Given the description of an element on the screen output the (x, y) to click on. 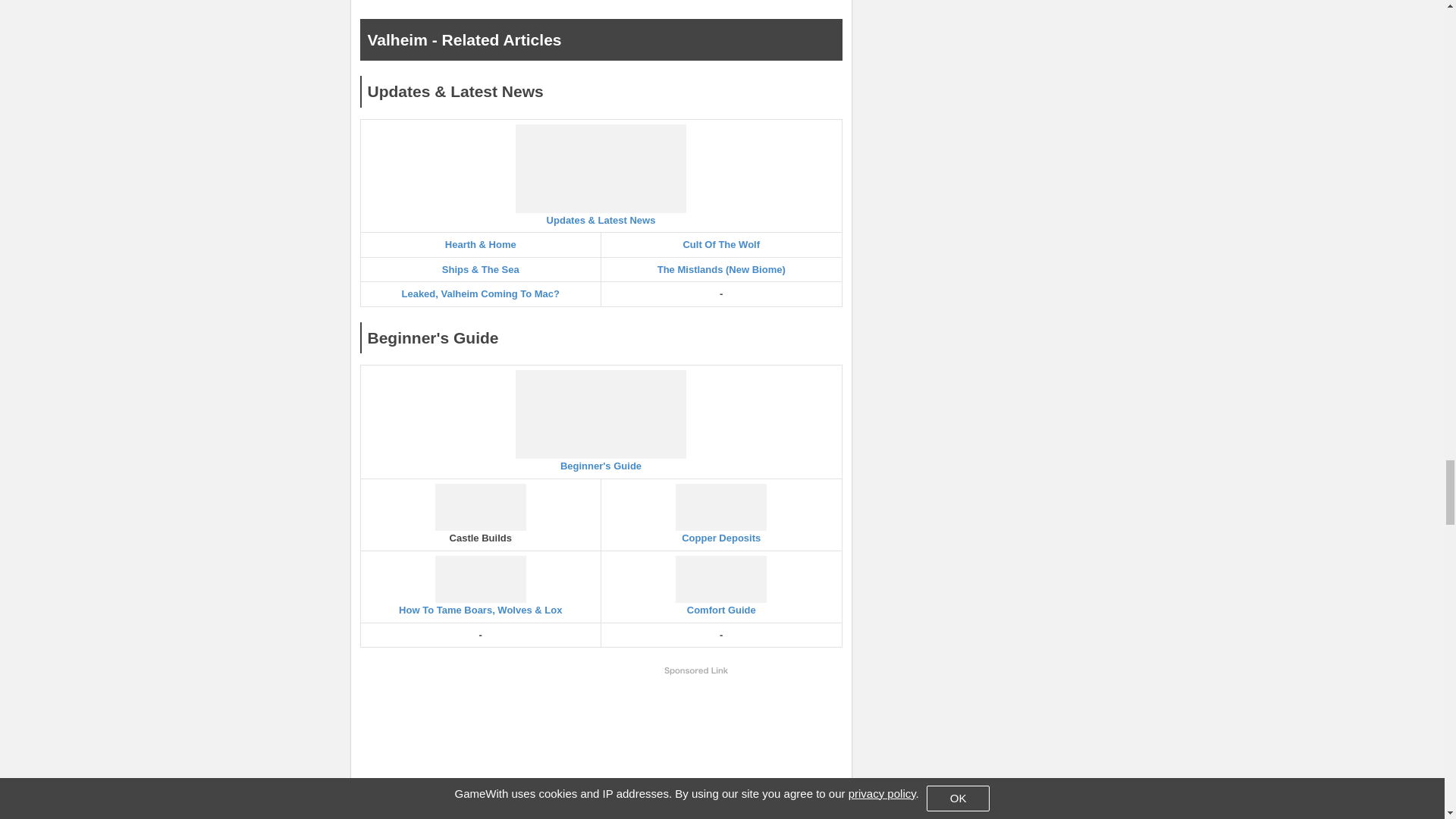
Copper Deposits (721, 513)
Comfort Guide (721, 585)
Beginner's Guide (600, 420)
Castle Builds (480, 513)
Cult Of The Wolf (721, 244)
Leaked, Valheim Coming To Mac? (480, 293)
